Given the description of an element on the screen output the (x, y) to click on. 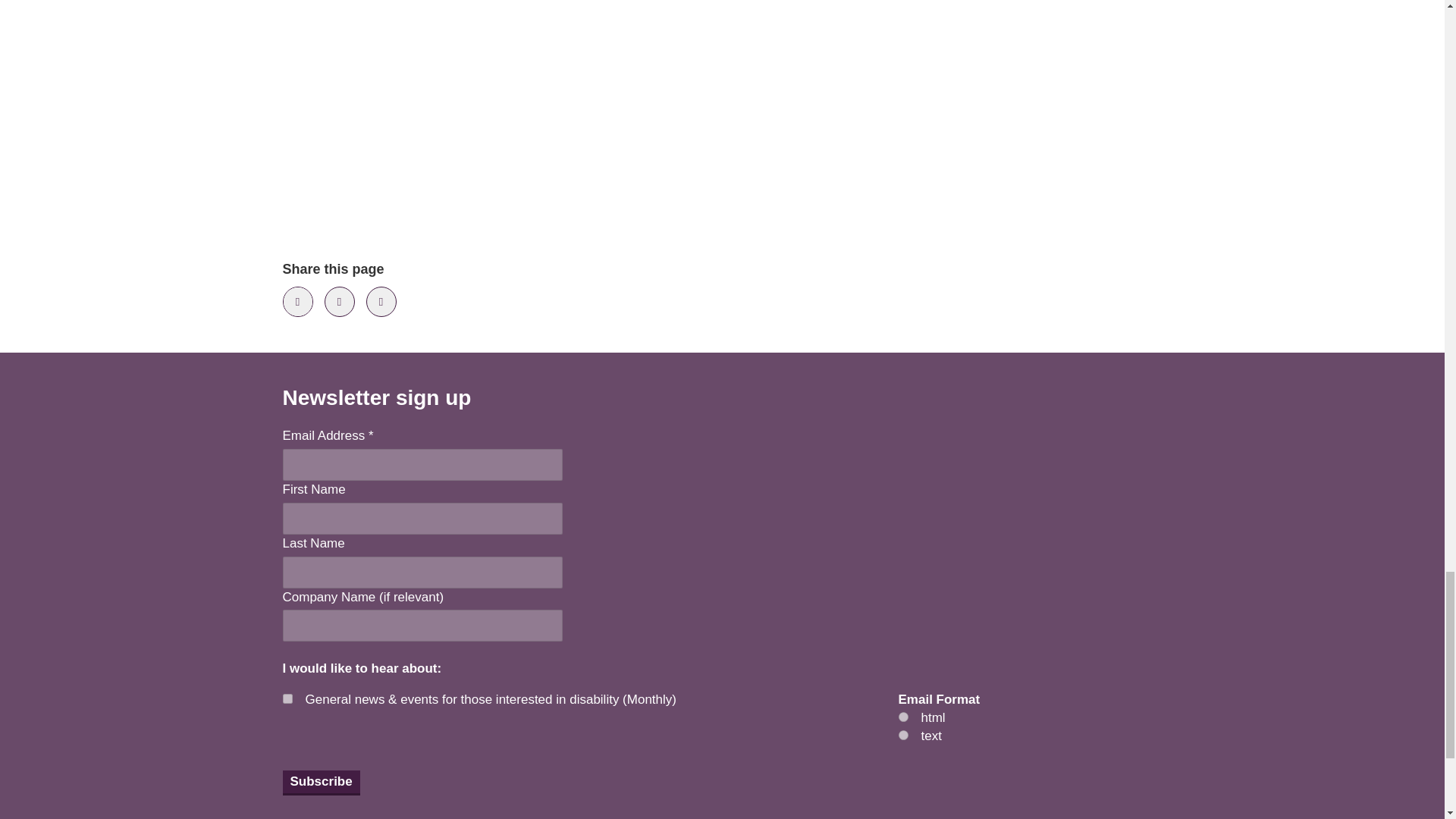
Subscribe (320, 782)
text (902, 735)
1 (287, 698)
html (902, 716)
